Given the description of an element on the screen output the (x, y) to click on. 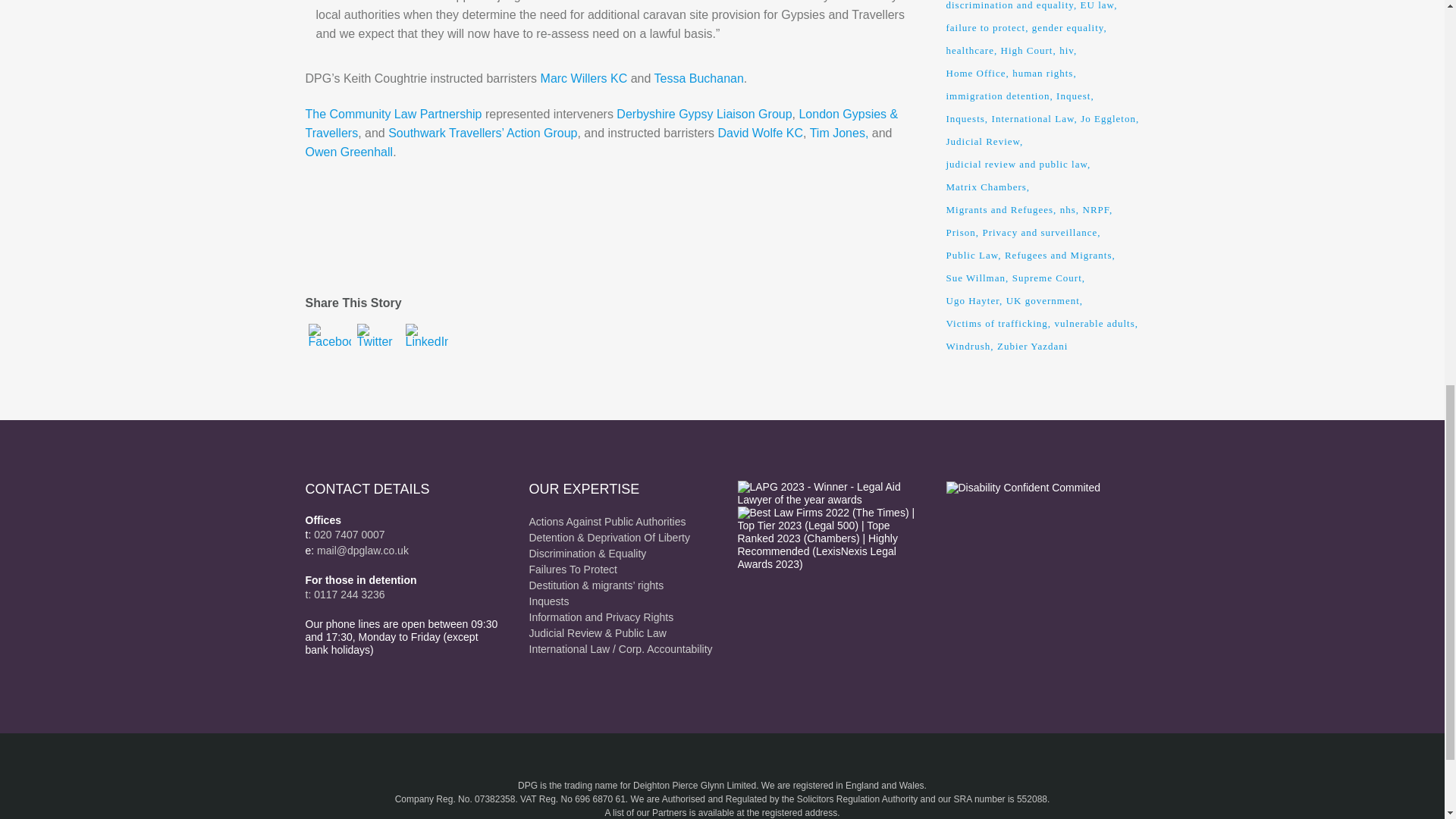
Facebook (328, 345)
LinkedIn (425, 345)
Twitter (377, 345)
